Given the description of an element on the screen output the (x, y) to click on. 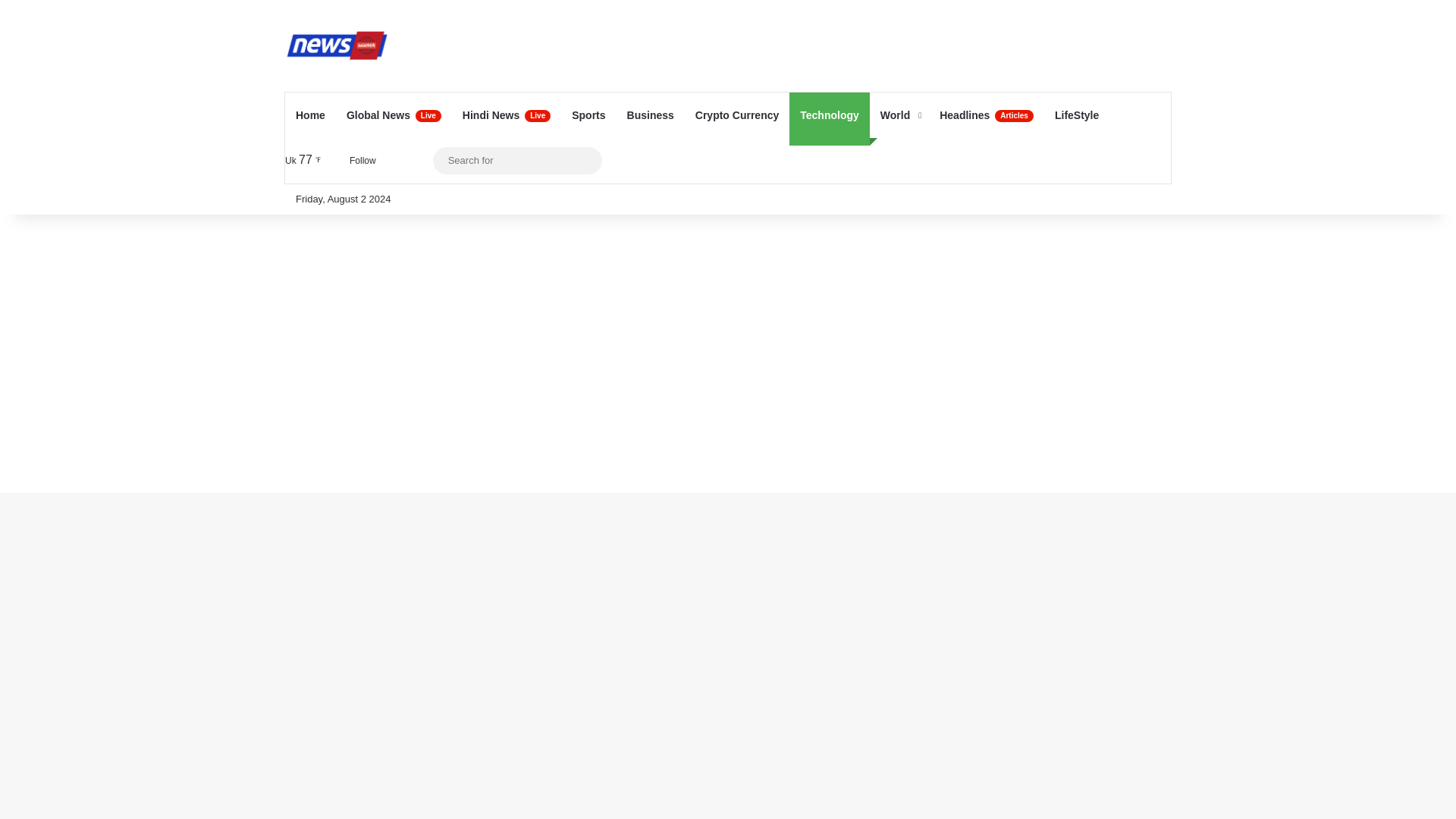
Crypto Currency (736, 115)
World (898, 115)
Technology (829, 115)
Business (649, 115)
LifeStyle (1076, 115)
Scattered Clouds (307, 159)
Search for (517, 159)
Global News Live (393, 115)
Hindi News Live (505, 115)
Headlines Articles (985, 115)
